Given the description of an element on the screen output the (x, y) to click on. 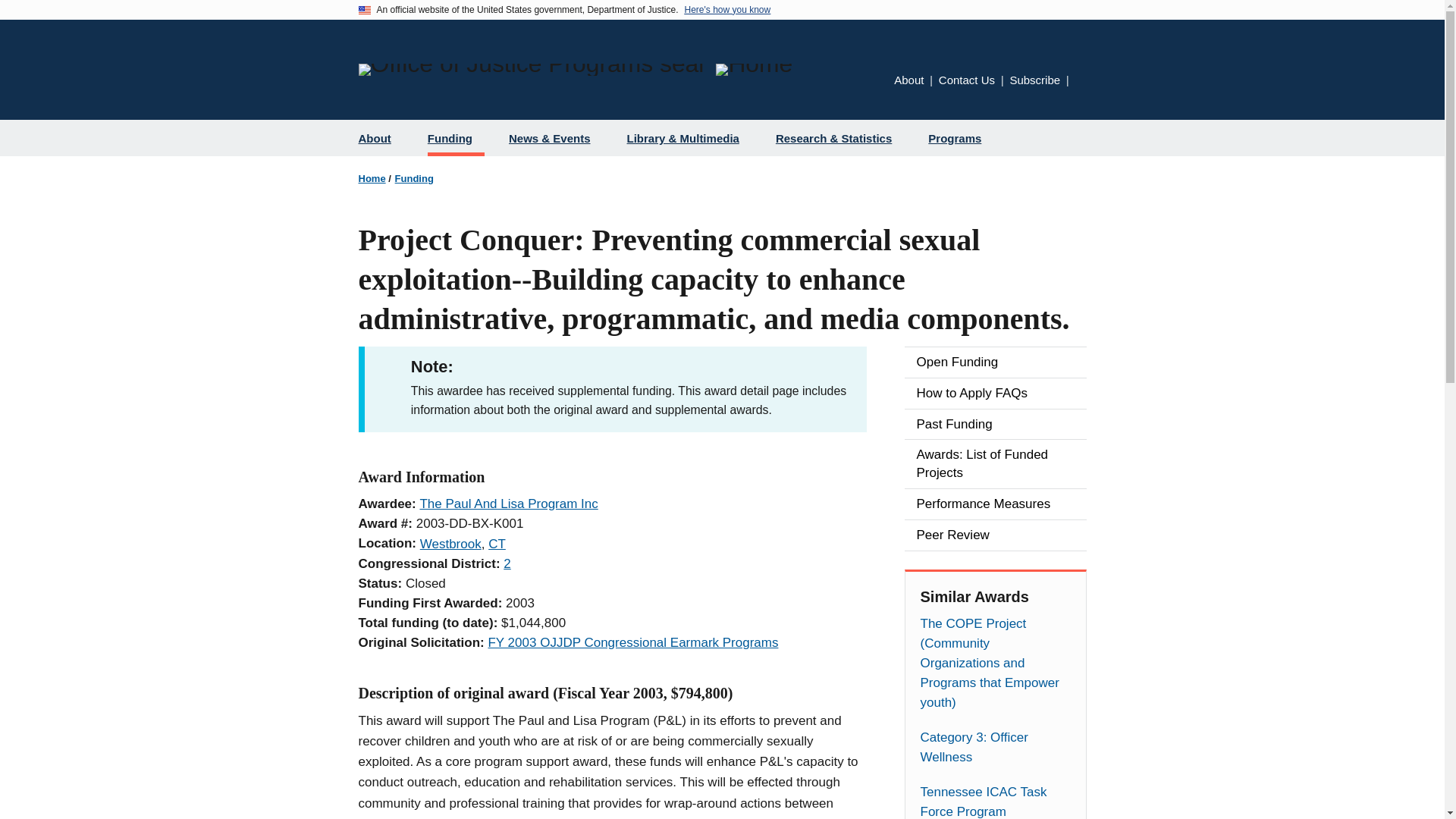
Open Funding (995, 362)
Tennessee ICAC Task Force Program (995, 800)
Tennessee ICAC Task Force Program (995, 800)
Programs (960, 138)
Performance Measures (995, 503)
Subscribe (1034, 79)
Home (754, 69)
How to Apply FAQs (995, 393)
Share (1080, 81)
Contact Us (966, 79)
Choose a social sharing platform (1080, 81)
CT (496, 544)
Awards: List of Funded Projects (995, 463)
About (908, 79)
Past Funding (995, 424)
